Given the description of an element on the screen output the (x, y) to click on. 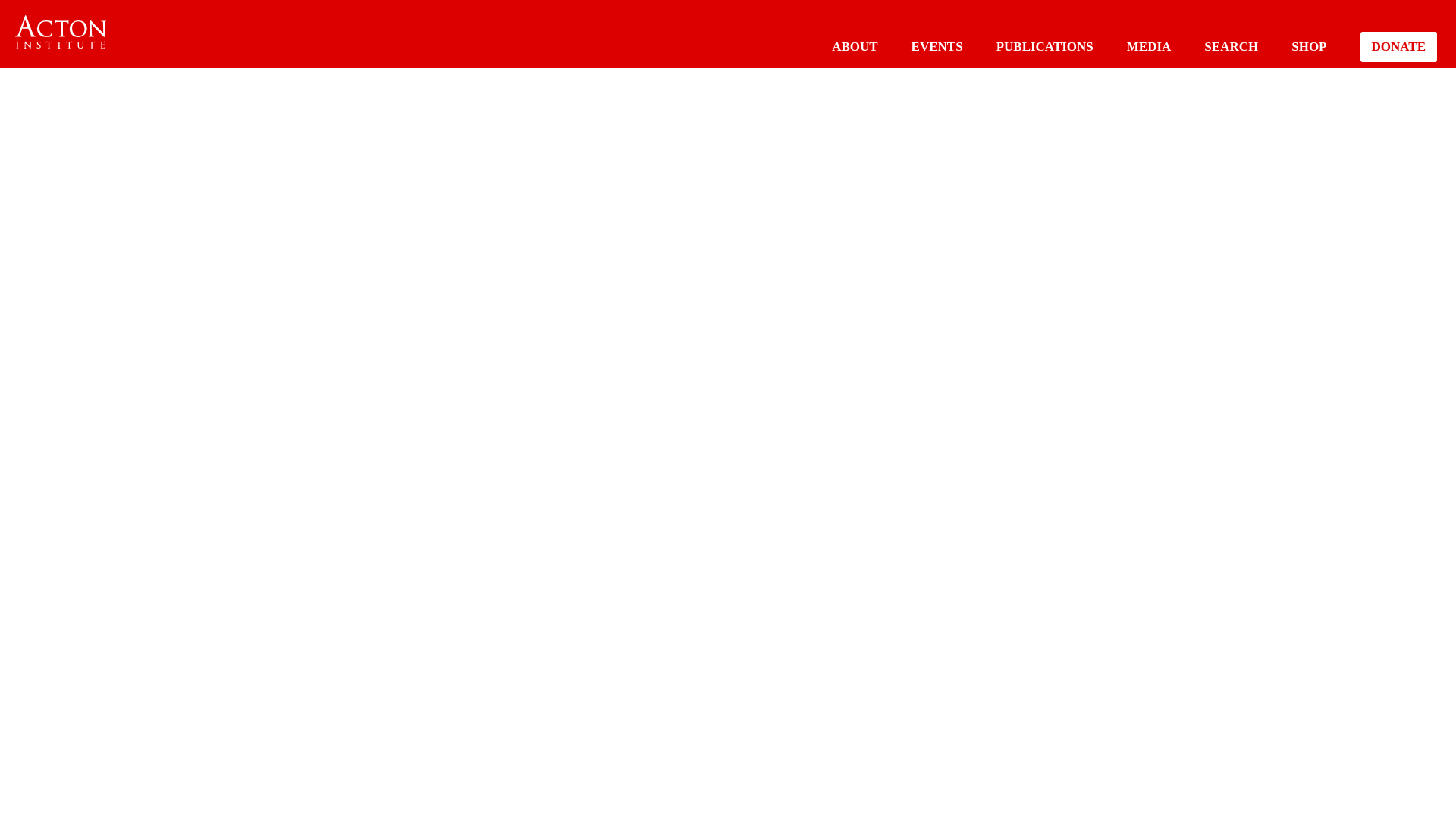
MEDIA (1149, 46)
The Acton Institute (60, 31)
SHOP (1308, 46)
ABOUT (854, 46)
PUBLICATIONS (1044, 46)
DONATE (1398, 46)
EVENTS (936, 46)
SEARCH (1230, 46)
